Given the description of an element on the screen output the (x, y) to click on. 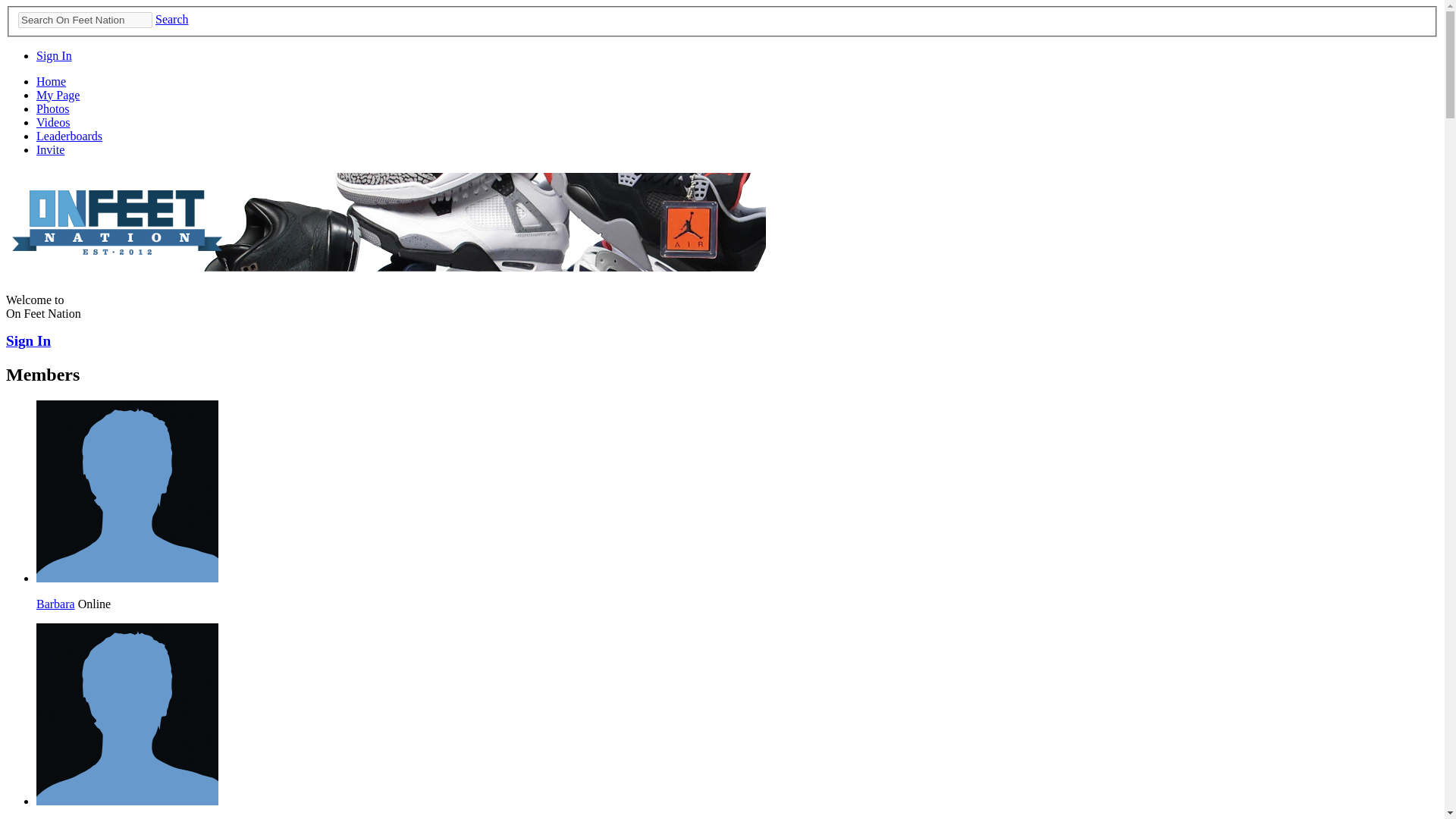
Sign In (27, 340)
Leaderboards (68, 135)
Search (172, 19)
Videos (52, 122)
Photos (52, 108)
Invite (50, 149)
Search On Feet Nation (84, 19)
Home (50, 81)
My Page (58, 94)
Denise (127, 800)
Barbara (55, 603)
Sign In (53, 55)
Barbara (127, 577)
Search On Feet Nation (84, 19)
